Given the description of an element on the screen output the (x, y) to click on. 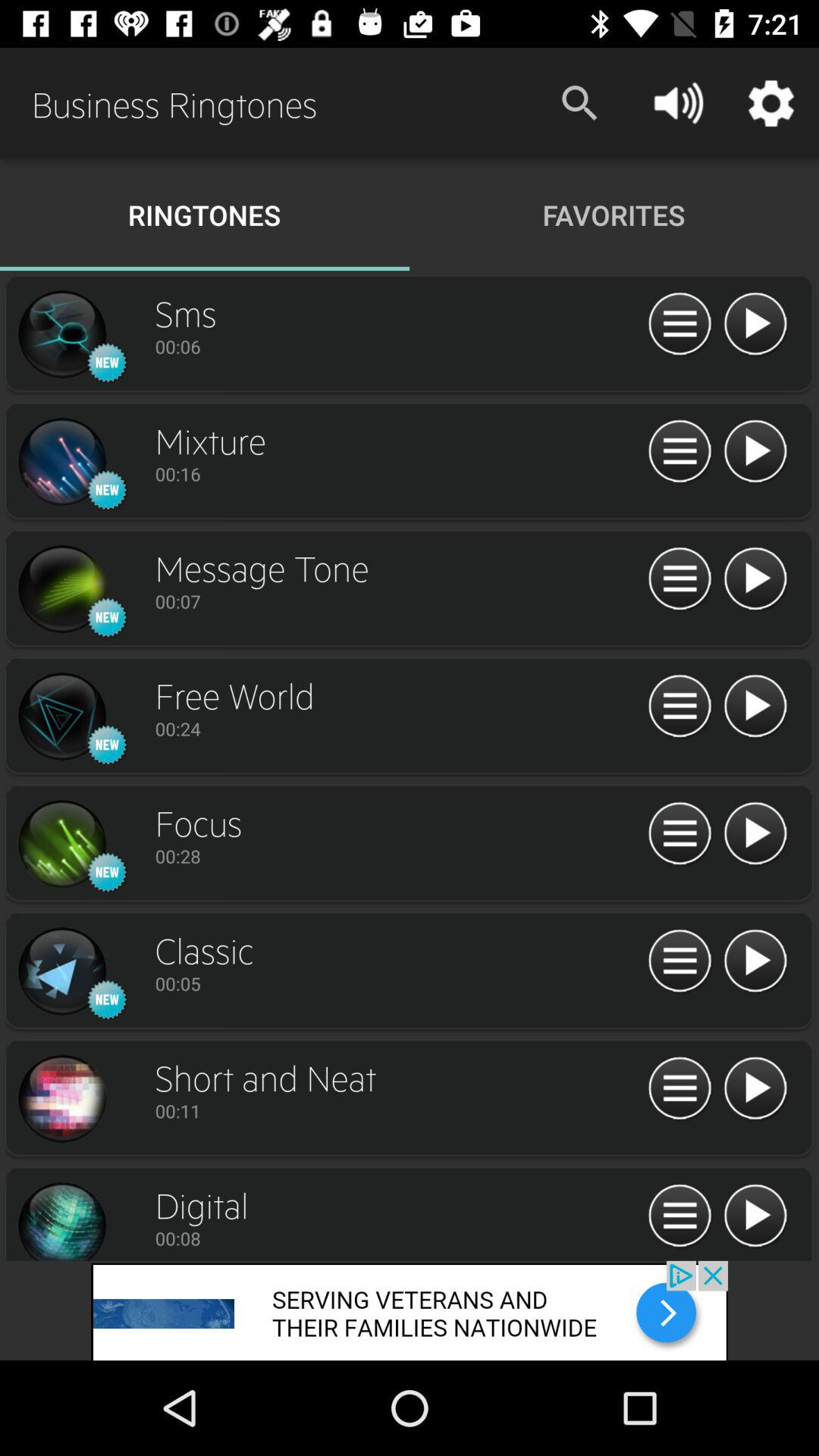
get more information on sms (679, 324)
